Given the description of an element on the screen output the (x, y) to click on. 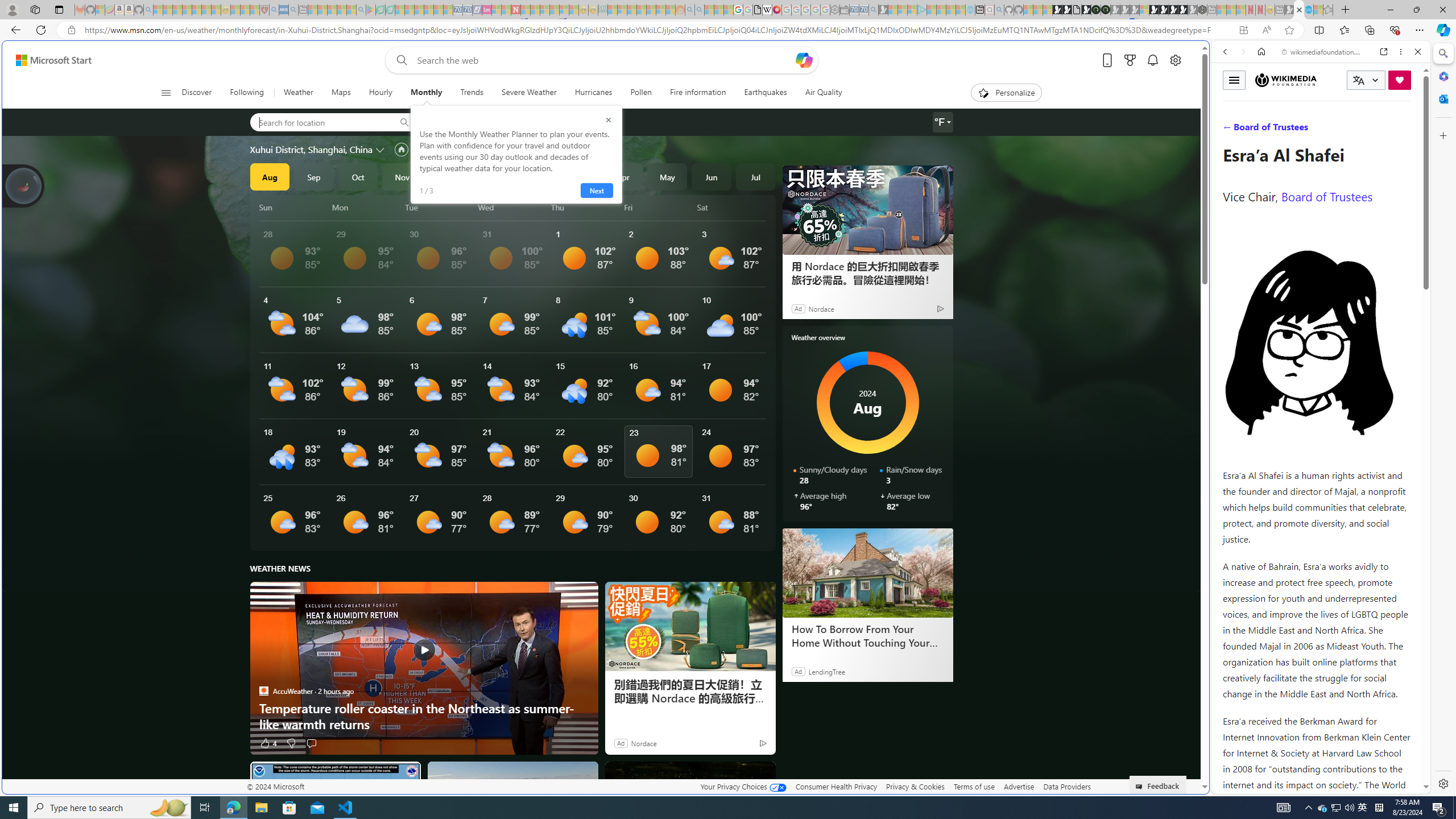
See More Details (731, 517)
Earthquakes (765, 92)
Future Focus Report 2024 (1105, 9)
Join us in planting real trees to help our planet! (23, 184)
Forward (1242, 51)
Terms of Use Agreement - Sleeping (380, 9)
New Report Confirms 2023 Was Record Hot | Watch - Sleeping (196, 9)
google_privacy_policy_zh-CN.pdf (1118, 683)
Search Filter, Search Tools (1350, 129)
